Given the description of an element on the screen output the (x, y) to click on. 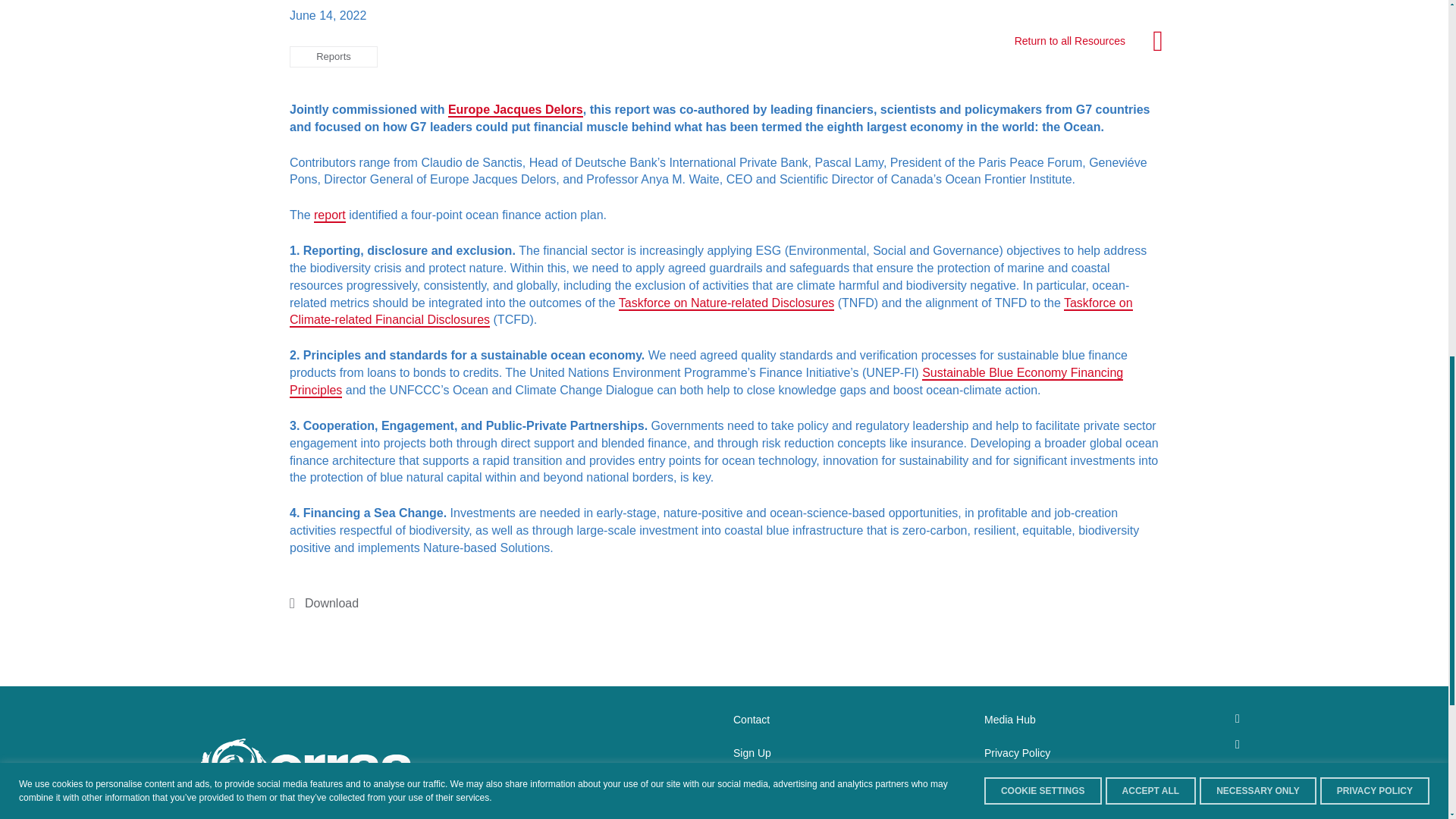
report (330, 214)
Accessibility (761, 786)
Contact (751, 719)
Download (323, 603)
Privacy Policy (1016, 752)
Taskforce on Nature-related Disclosures (726, 302)
Europe Jacques Delors (515, 109)
Sign Up (752, 752)
Sustainable Blue Economy Financing Principles (705, 381)
Terms of Use (1015, 786)
